Given the description of an element on the screen output the (x, y) to click on. 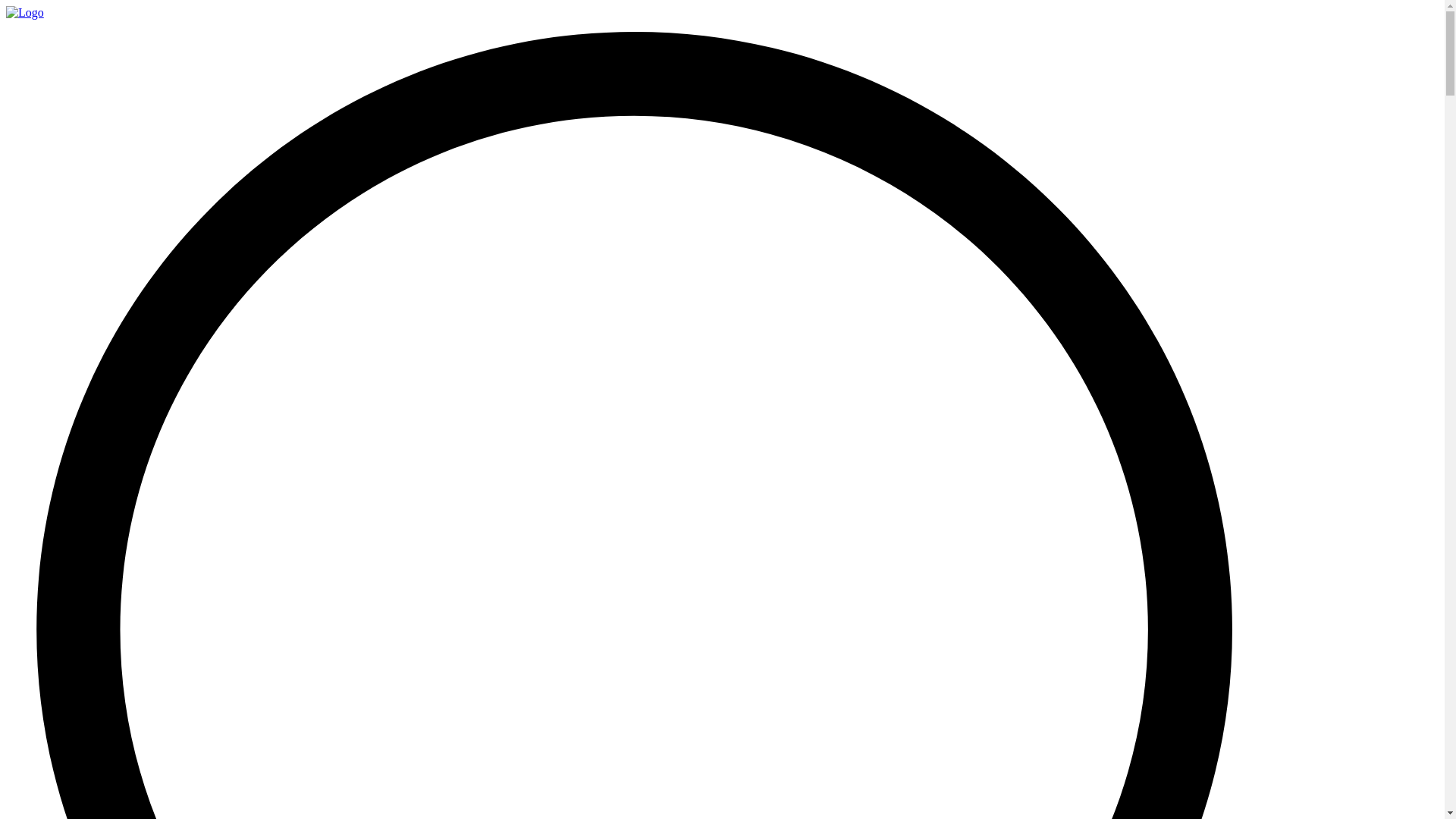
elCambiador (24, 12)
